Given the description of an element on the screen output the (x, y) to click on. 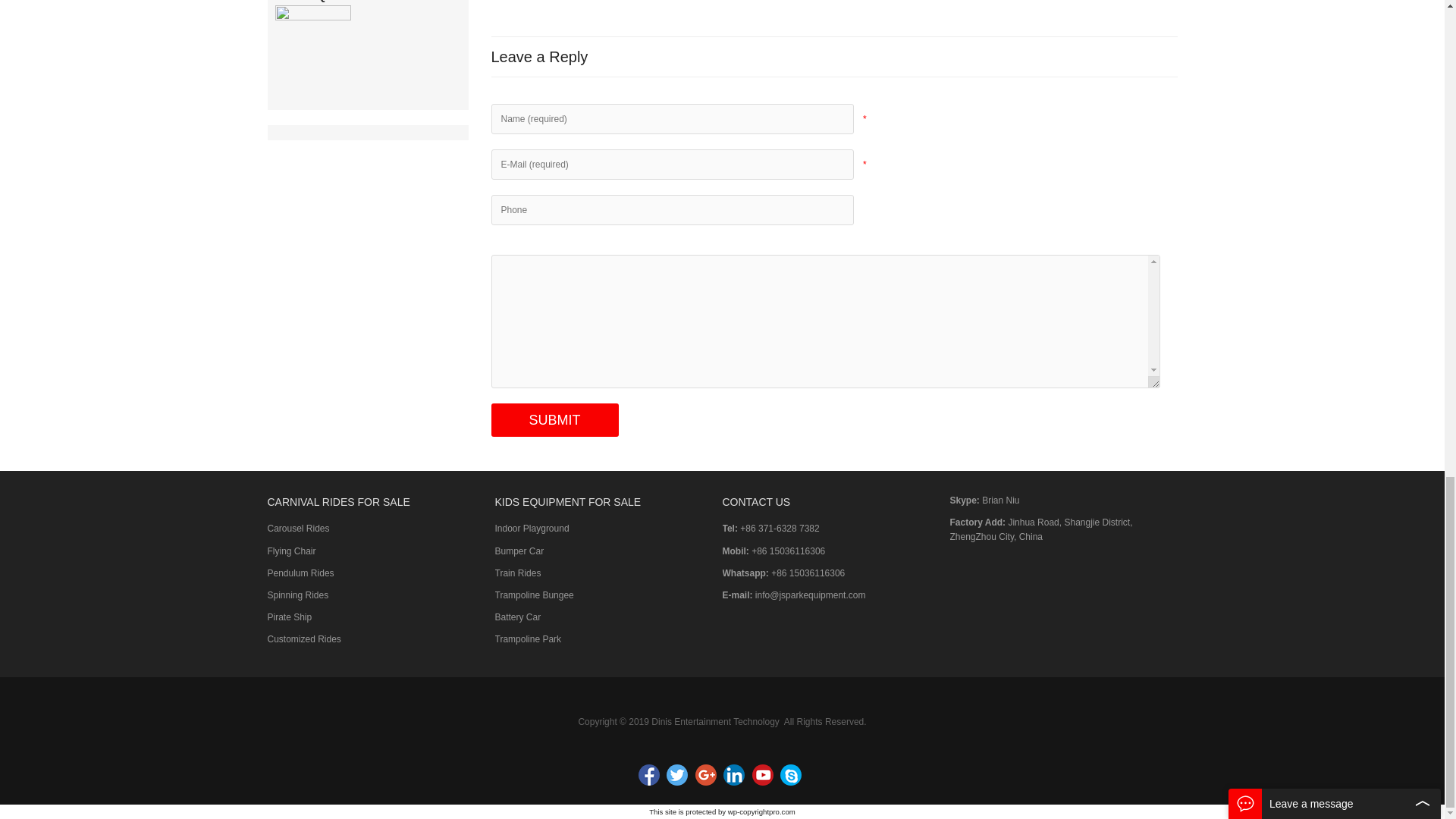
Post Comment (555, 419)
SUBMIT (555, 419)
